Given the description of an element on the screen output the (x, y) to click on. 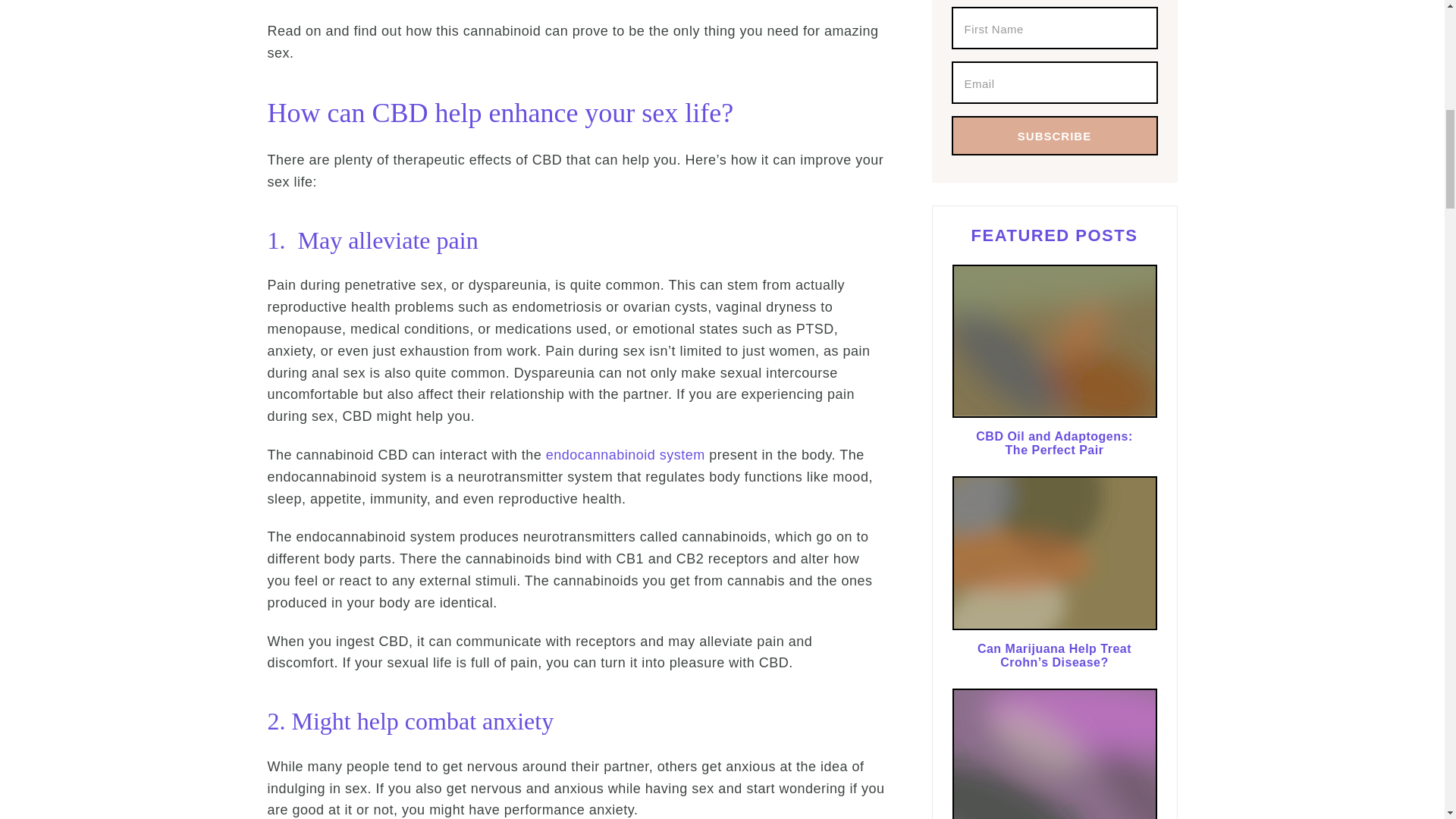
Subscribe (1053, 135)
CBD Oil and Adaptogens: The Perfect Pair (1054, 344)
Fibromyalgia and Cannabis: Research Studies (1054, 753)
